Given the description of an element on the screen output the (x, y) to click on. 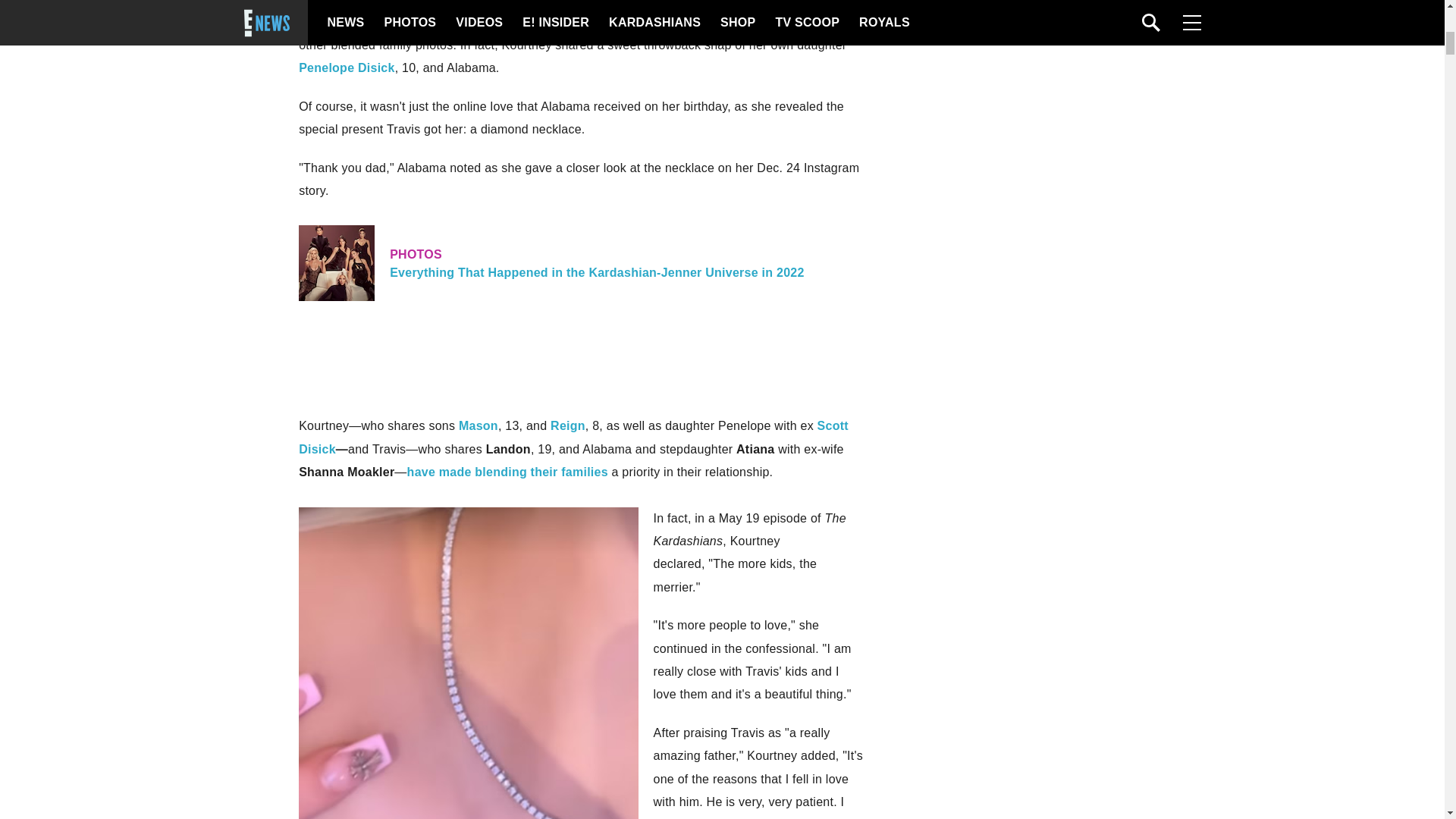
Reign (567, 425)
have made blending their families (507, 472)
Mason (477, 425)
Penelope Disick (346, 67)
Scott Disick (573, 437)
